Given the description of an element on the screen output the (x, y) to click on. 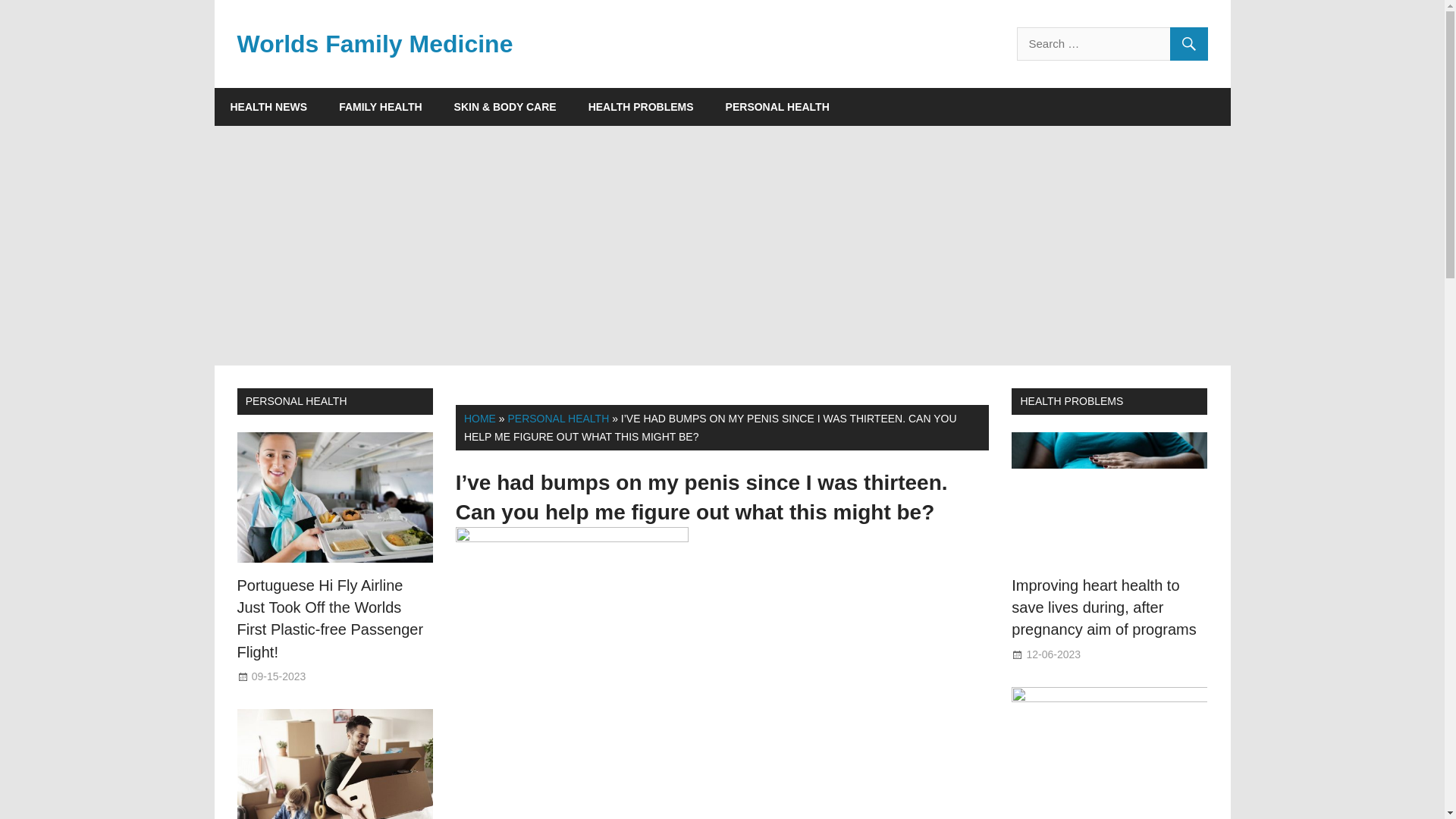
View all posts from category Personal Health (296, 400)
FAMILY HEALTH (380, 106)
Search for: (1111, 43)
PERSONAL HEALTH (777, 106)
22:40 (1053, 654)
PERSONAL HEALTH (557, 418)
09-15-2023 (278, 676)
PERSONAL HEALTH (296, 400)
HOME (480, 418)
HEALTH PROBLEMS (641, 106)
